Given the description of an element on the screen output the (x, y) to click on. 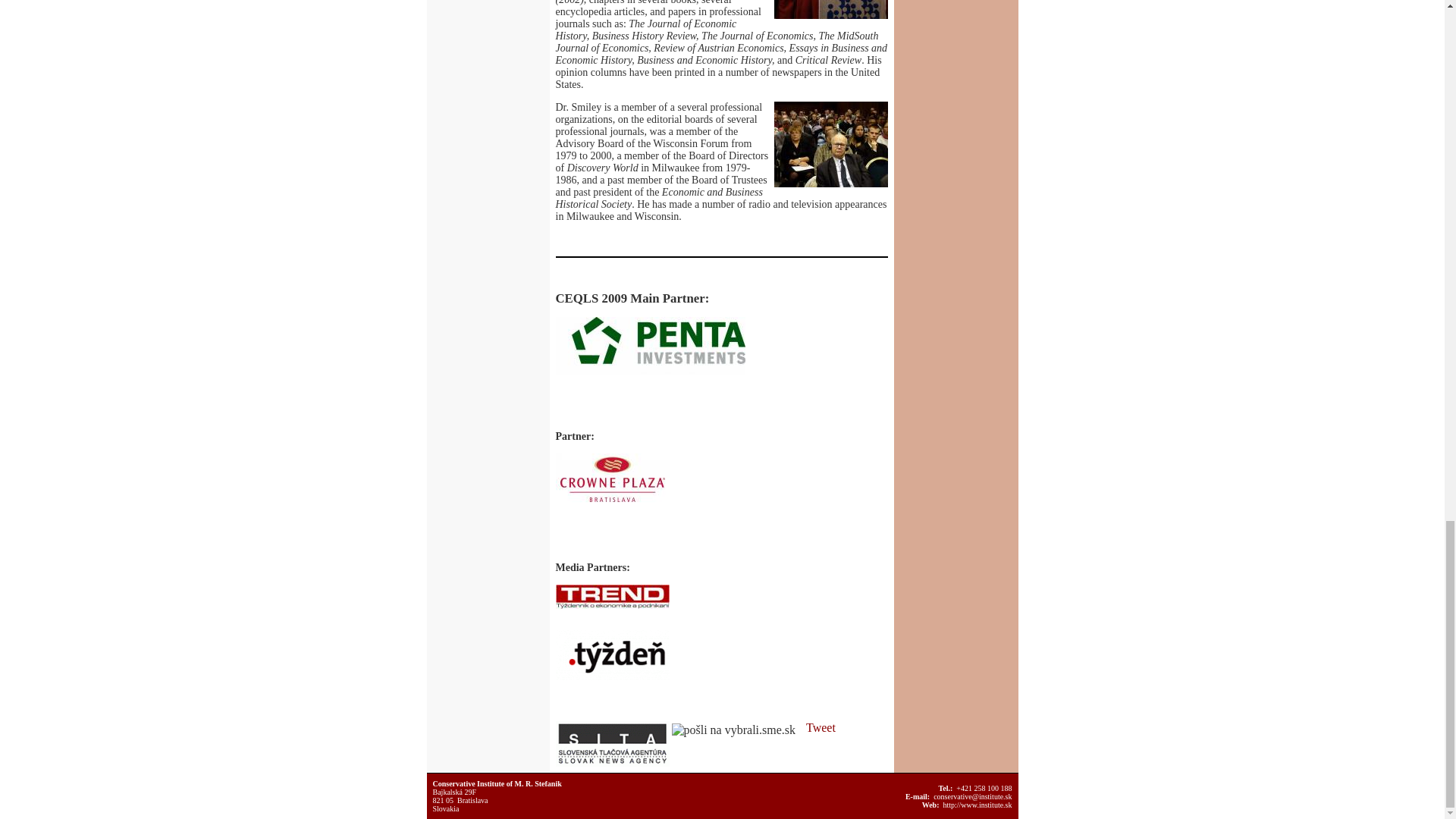
vybrali.sme.sk (735, 729)
Tweet (820, 727)
Penta Investments (649, 345)
Crowne Plaza Hotel Bratislava (611, 479)
